Given the description of an element on the screen output the (x, y) to click on. 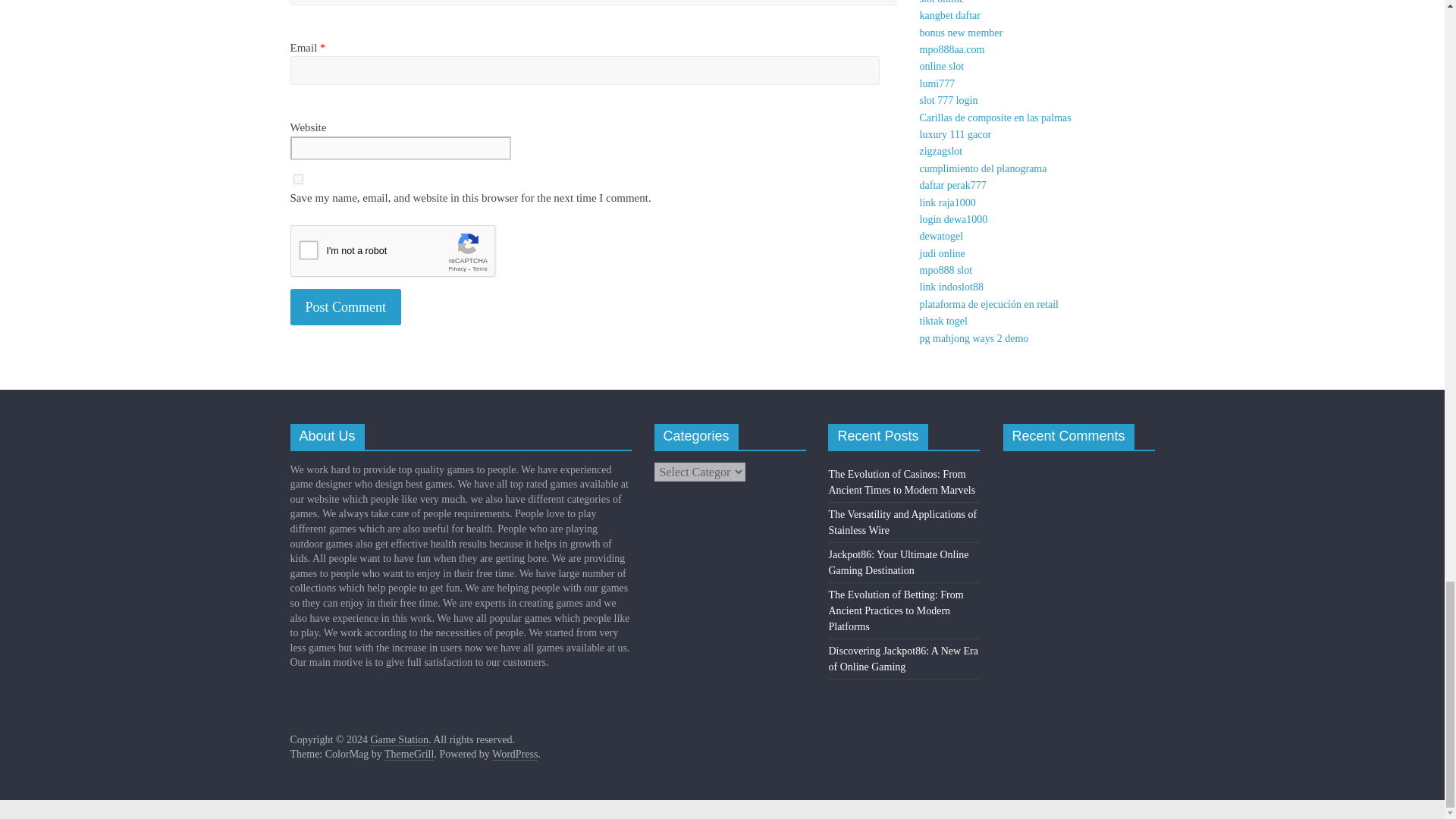
reCAPTCHA (404, 254)
Post Comment (345, 307)
yes (297, 179)
Post Comment (345, 307)
